Given the description of an element on the screen output the (x, y) to click on. 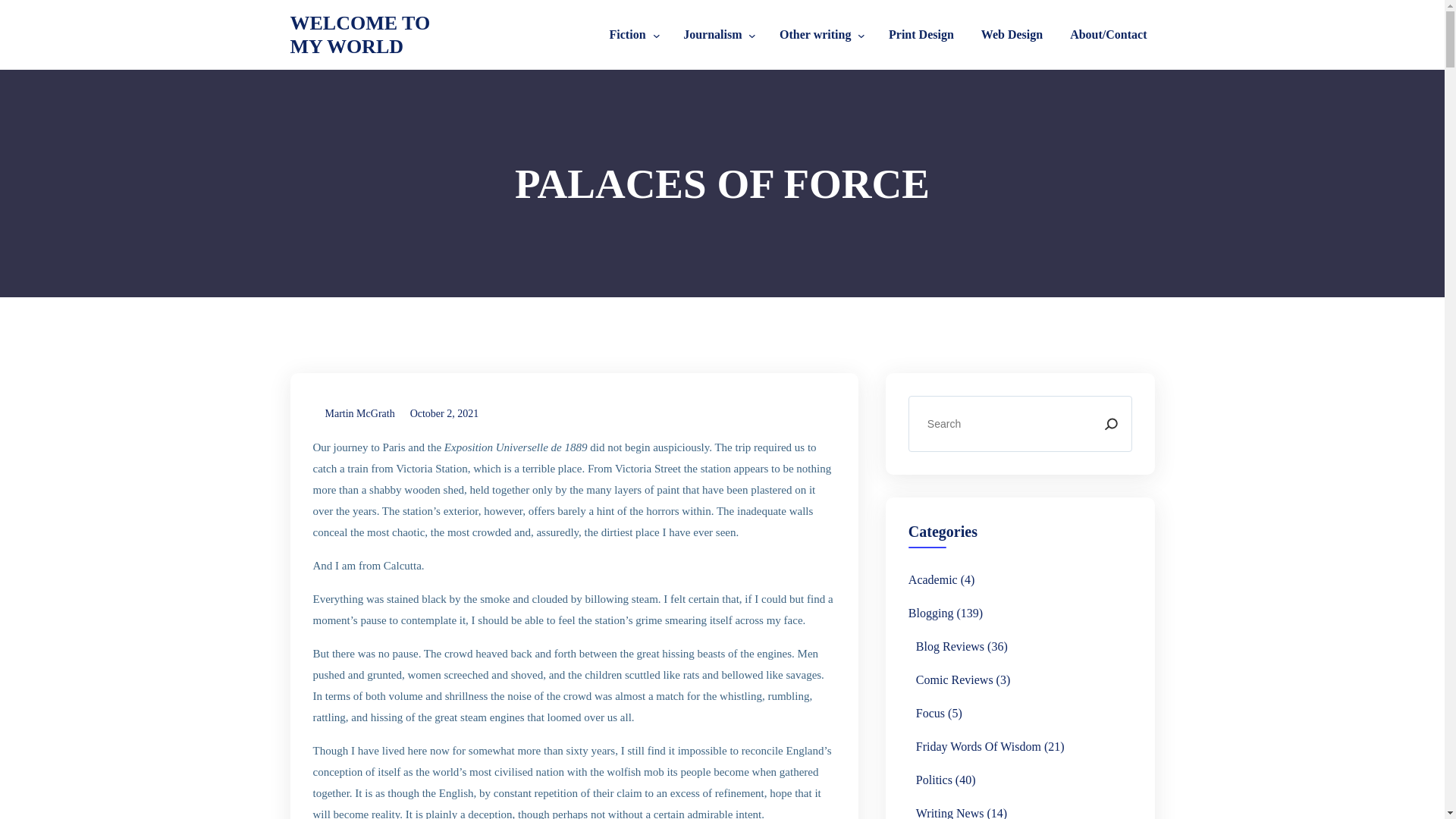
Blogging (930, 613)
Journalism (712, 34)
Comic Reviews (953, 680)
Fiction (627, 34)
Writing News (949, 811)
Print Design (921, 34)
Web Design (1011, 34)
Blog Reviews (949, 646)
Other writing (815, 34)
Friday Words Of Wisdom (978, 746)
